Given the description of an element on the screen output the (x, y) to click on. 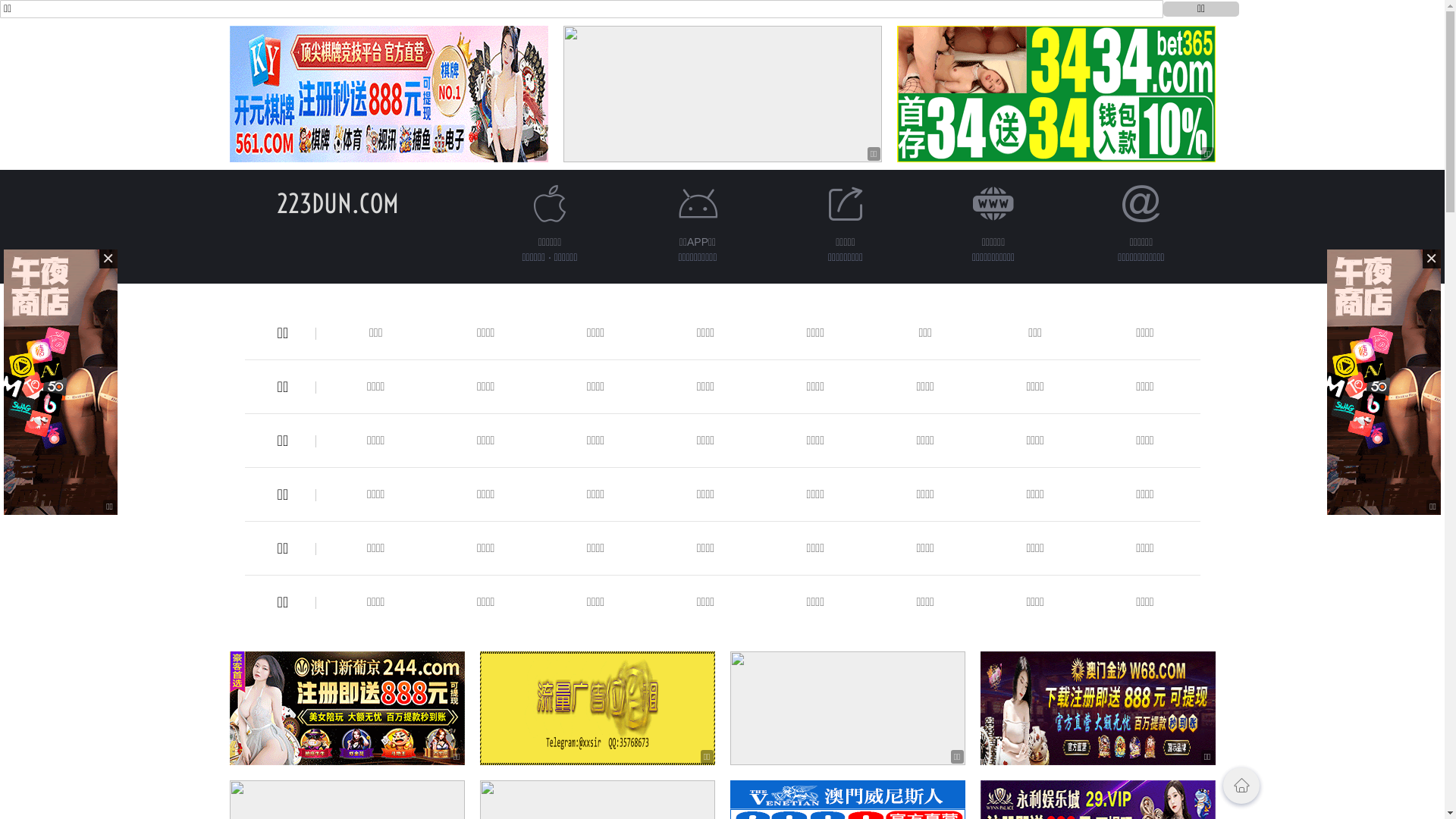
223DUN.COM Element type: text (337, 203)
